Given the description of an element on the screen output the (x, y) to click on. 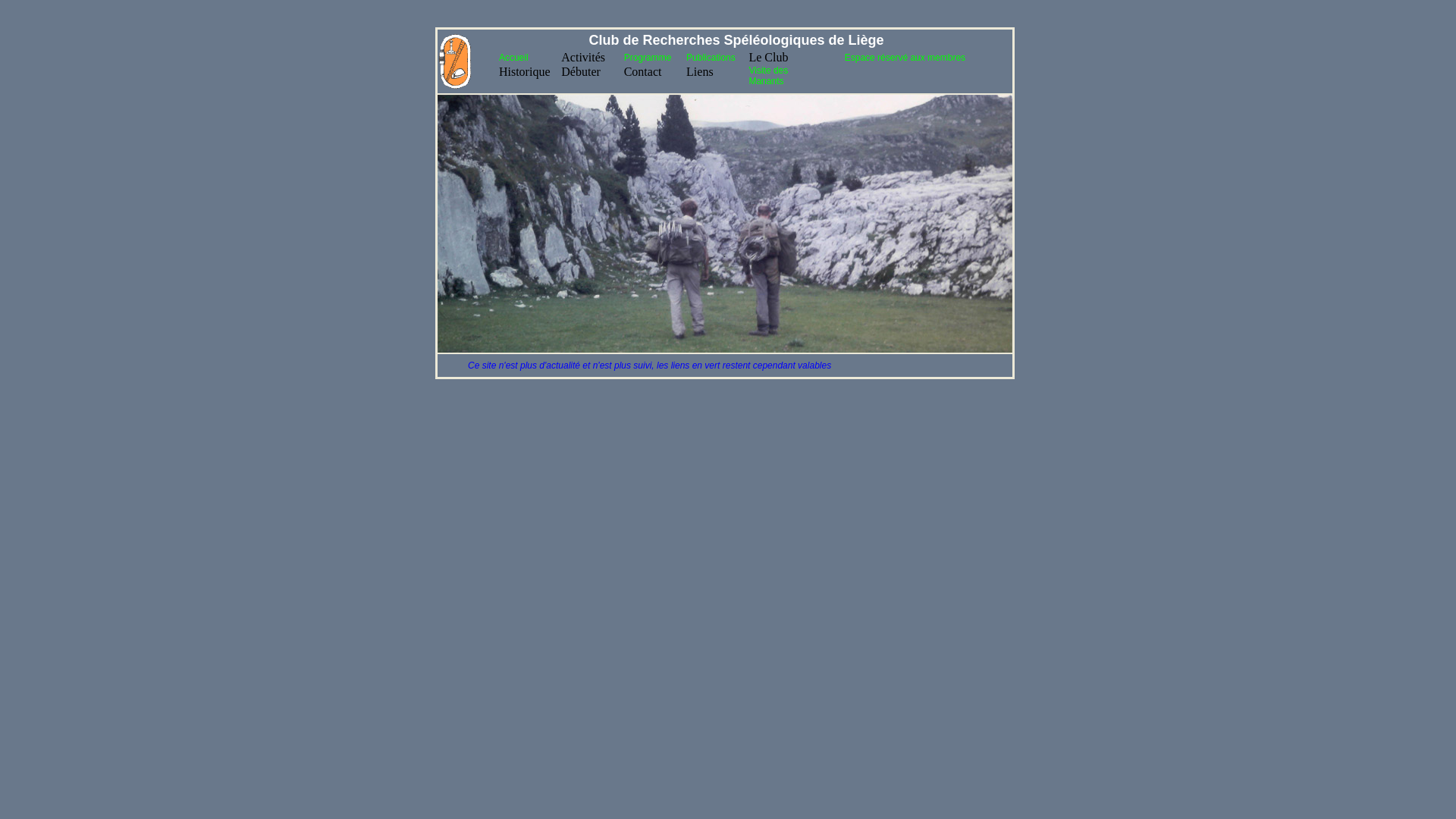
Publications Element type: text (710, 57)
Accueil Element type: text (513, 57)
Visite des
Manants Element type: text (767, 75)
Programme Element type: text (647, 57)
